Given the description of an element on the screen output the (x, y) to click on. 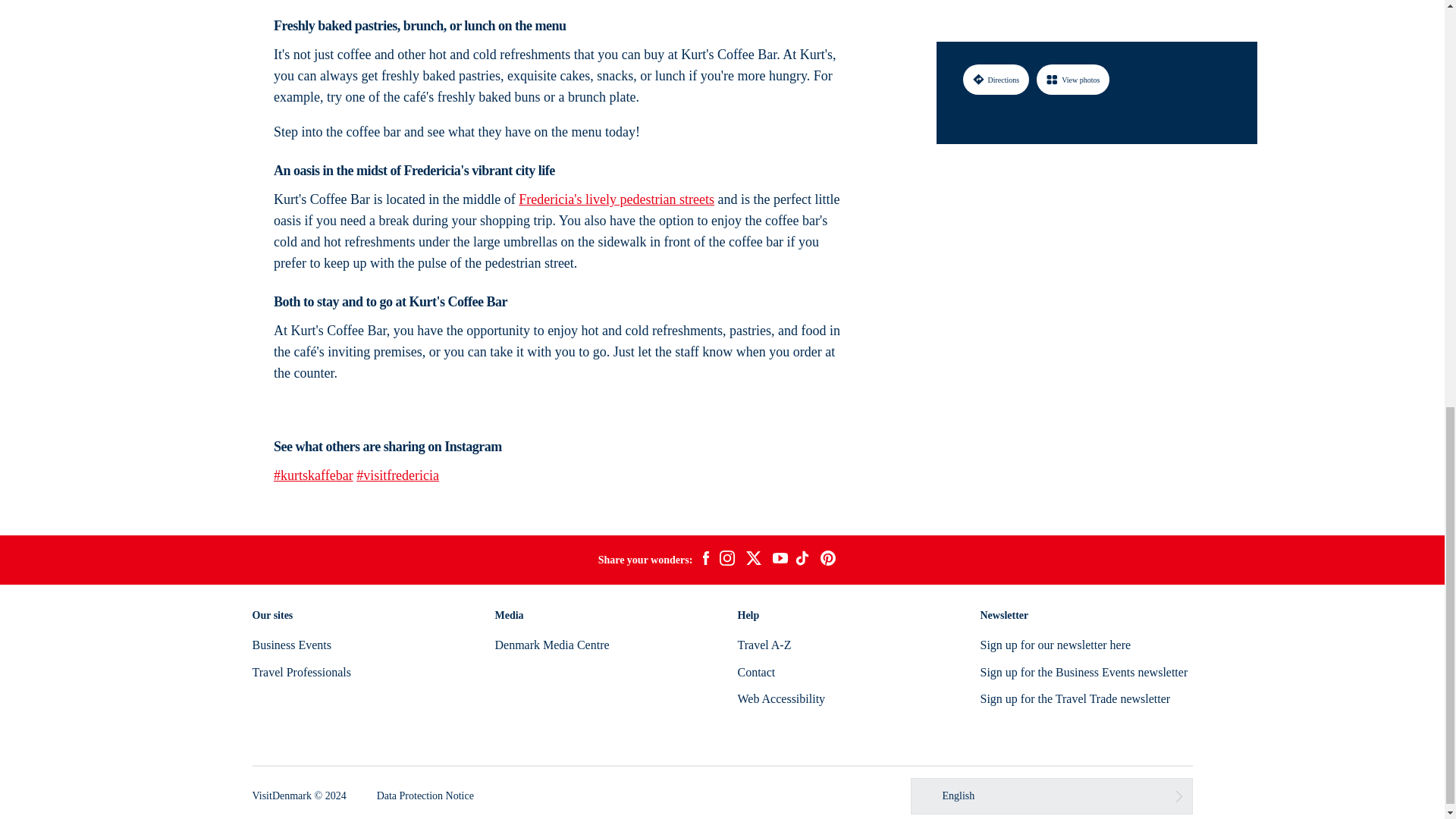
Travel Professionals (300, 671)
instagram (726, 560)
Denmark Media Centre (551, 644)
Sign up for the Travel Trade newsletter (1074, 698)
facebook (705, 560)
Web Accessibility (780, 698)
Travel A-Z (763, 644)
Contact (755, 671)
Data Protection Notice (425, 796)
Sign up for our newsletter here (1055, 644)
Travel Professionals (300, 671)
Contact (755, 671)
Business Events (290, 644)
Sign up for the Business Events newsletter (1083, 671)
Travel A-Z (763, 644)
